Given the description of an element on the screen output the (x, y) to click on. 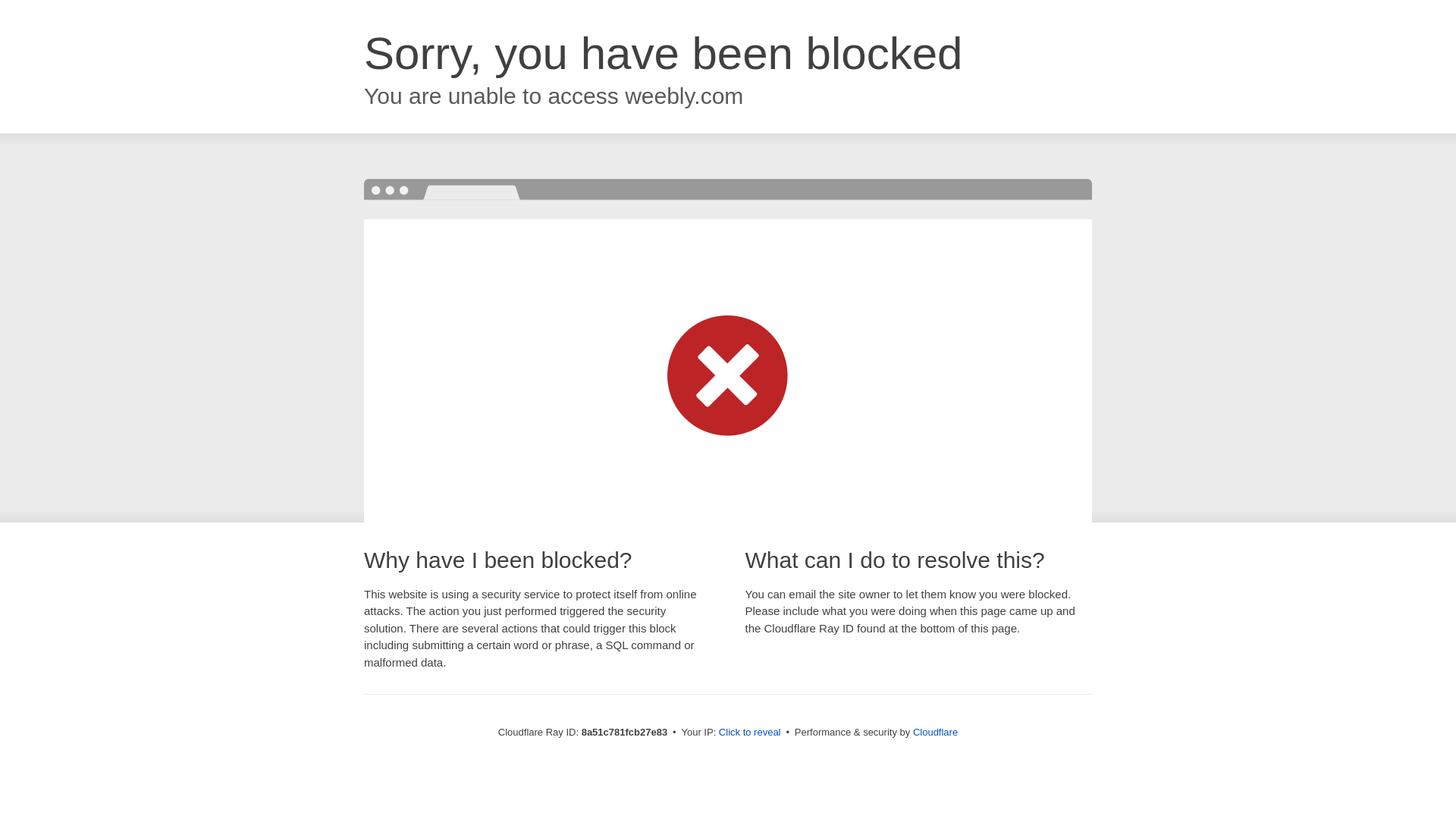
Cloudflare (935, 731)
Click to reveal (749, 732)
